Given the description of an element on the screen output the (x, y) to click on. 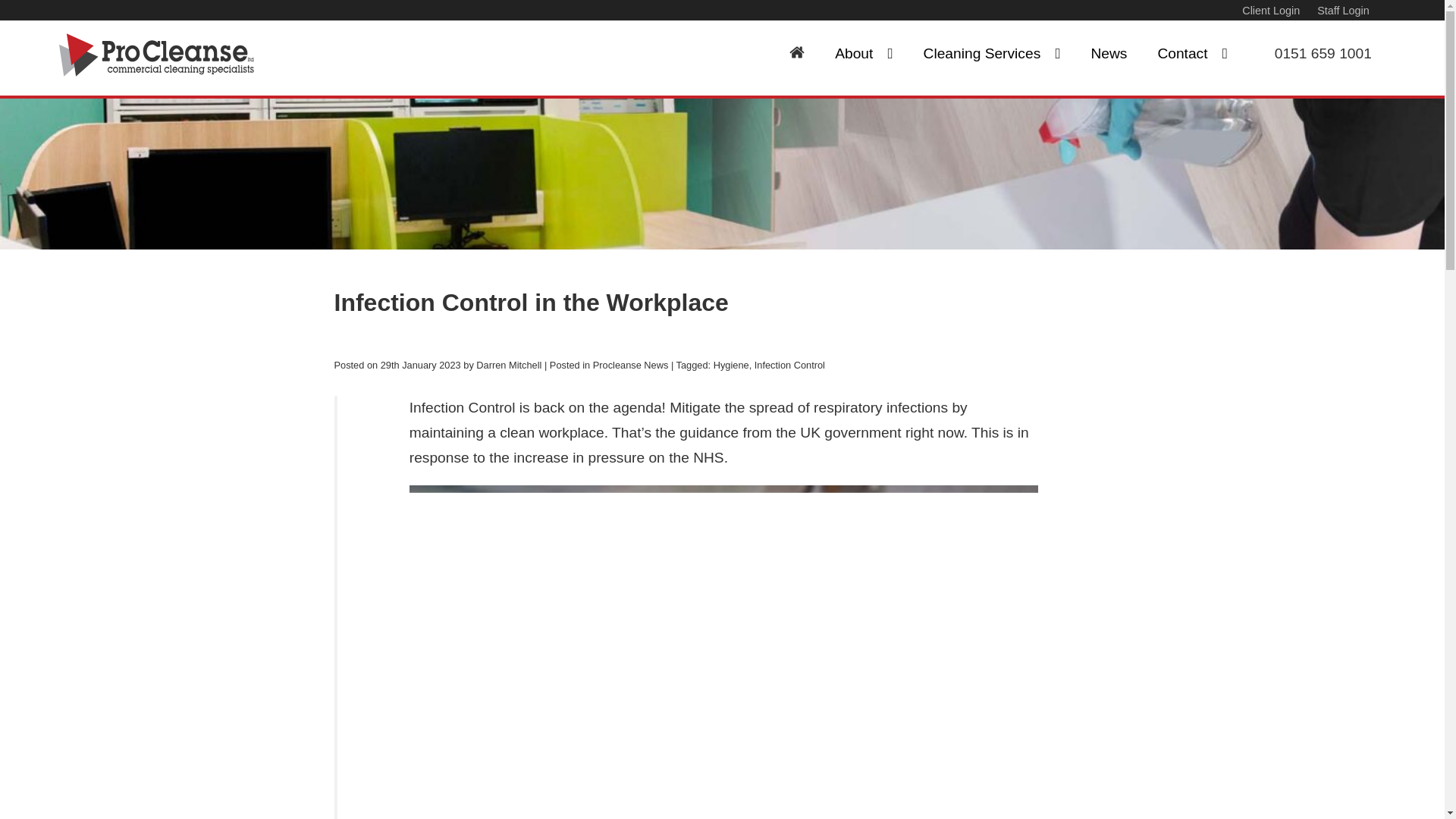
Darren Mitchell (508, 365)
Staff Login (1352, 10)
News (1108, 54)
0151 659 1001 (1315, 54)
Client Login (1279, 10)
Cleaning Services (991, 54)
Contact (1191, 54)
About (863, 54)
Procleanse News (630, 365)
29th January 2023 (420, 365)
